Given the description of an element on the screen output the (x, y) to click on. 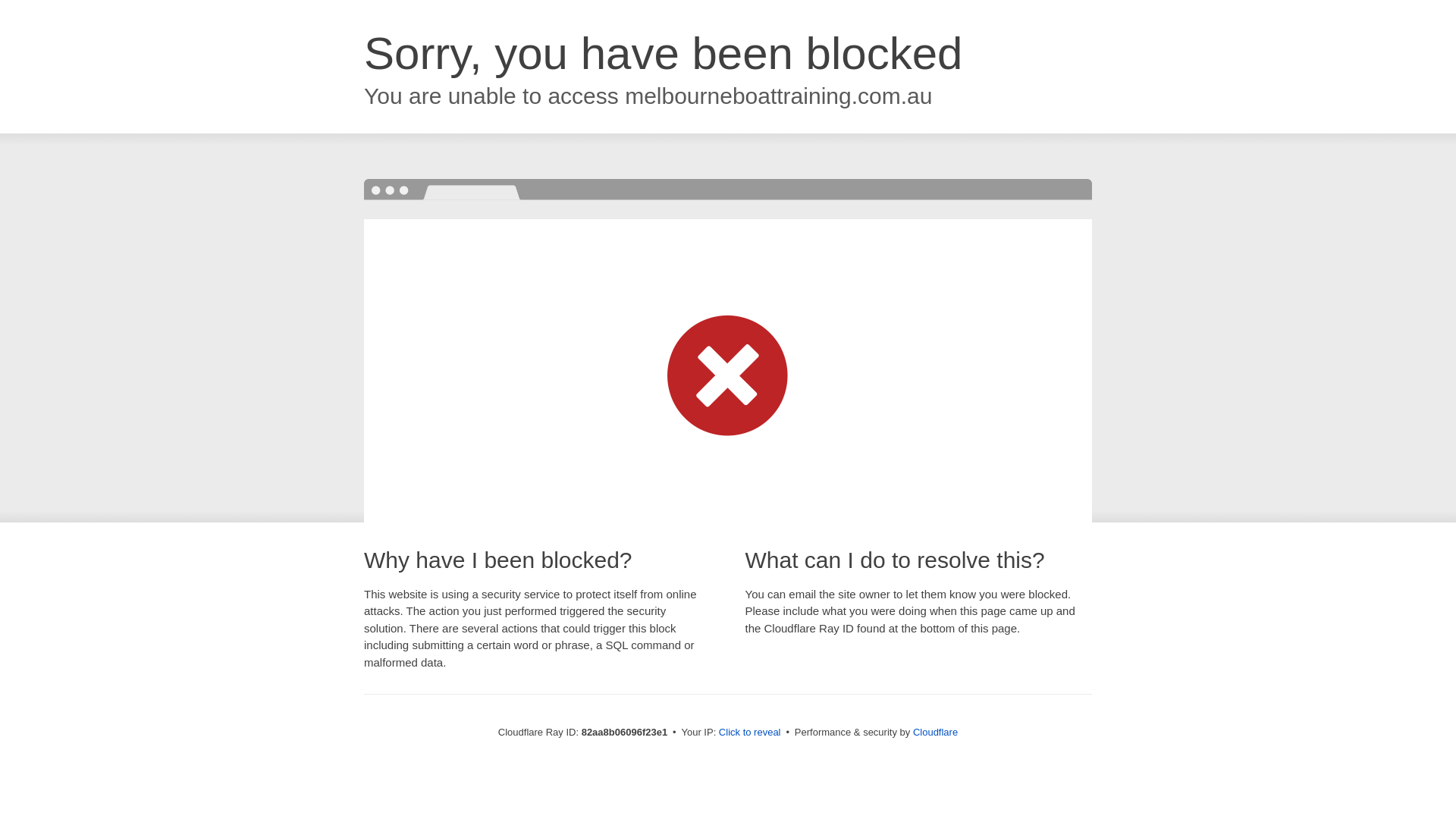
Click to reveal Element type: text (749, 732)
Cloudflare Element type: text (935, 731)
